Given the description of an element on the screen output the (x, y) to click on. 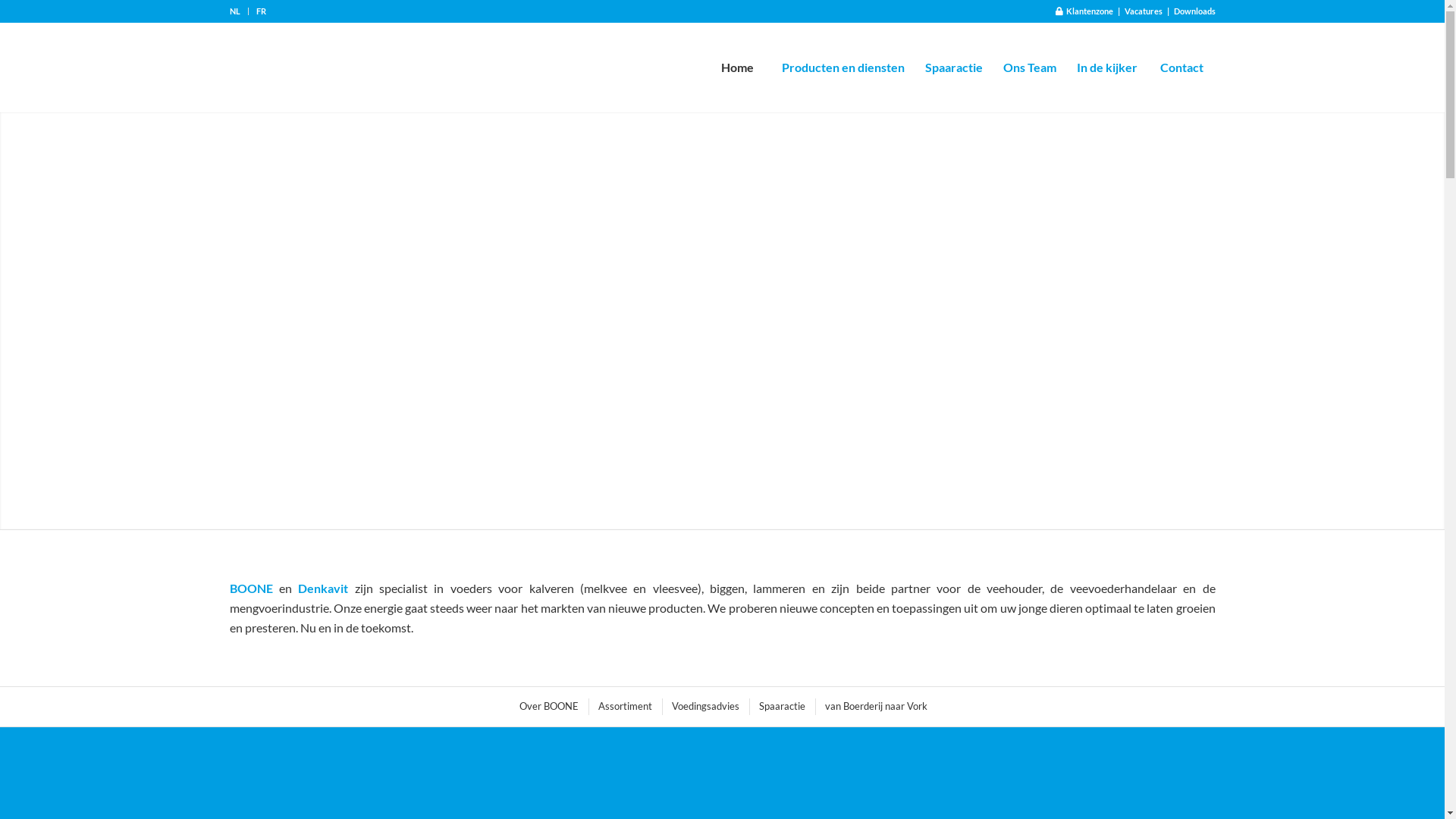
Contact Element type: text (1180, 67)
In de kijker Element type: text (1106, 67)
Home Element type: text (736, 67)
Downloads Element type: text (1194, 10)
NL Element type: text (234, 10)
Vacatures Element type: text (1142, 10)
Over BOONE Element type: text (547, 706)
Denkavit Element type: text (323, 587)
Spaaractie Element type: text (780, 706)
Assortiment Element type: text (623, 706)
Spaaractie Element type: text (953, 67)
van Boerderij naar Vork Element type: text (874, 706)
FR Element type: text (261, 10)
Voedingsadvies Element type: text (703, 706)
Producten en diensten Element type: text (841, 67)
  Klantenzone Element type: text (1084, 10)
Ons Team Element type: text (1028, 67)
